Given the description of an element on the screen output the (x, y) to click on. 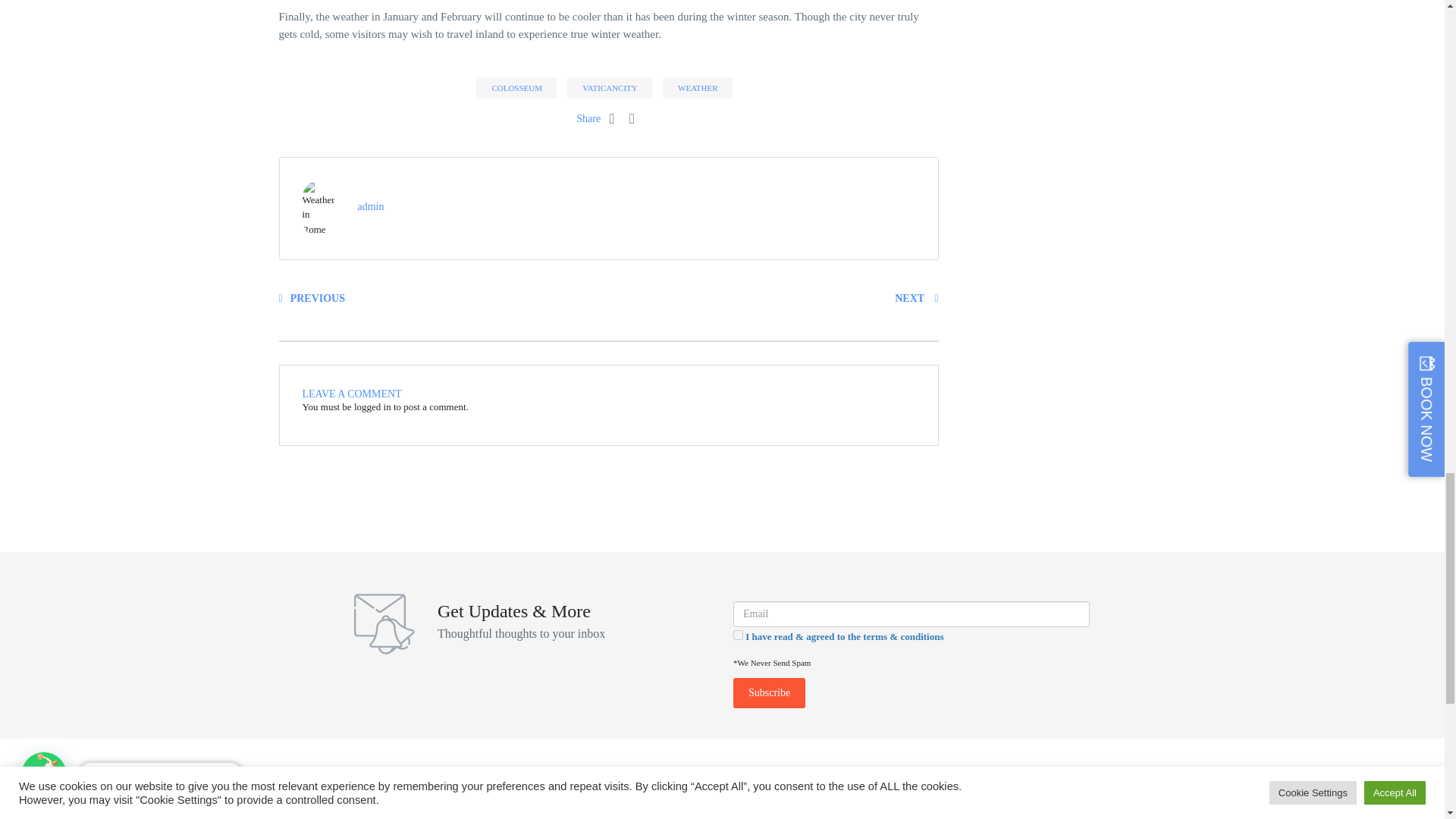
1 (737, 634)
PREVIOUS (312, 297)
WEATHER (697, 87)
VATICANCITY (609, 87)
Subscribe (769, 693)
COLOSSEUM (516, 87)
NEXT (916, 297)
